Given the description of an element on the screen output the (x, y) to click on. 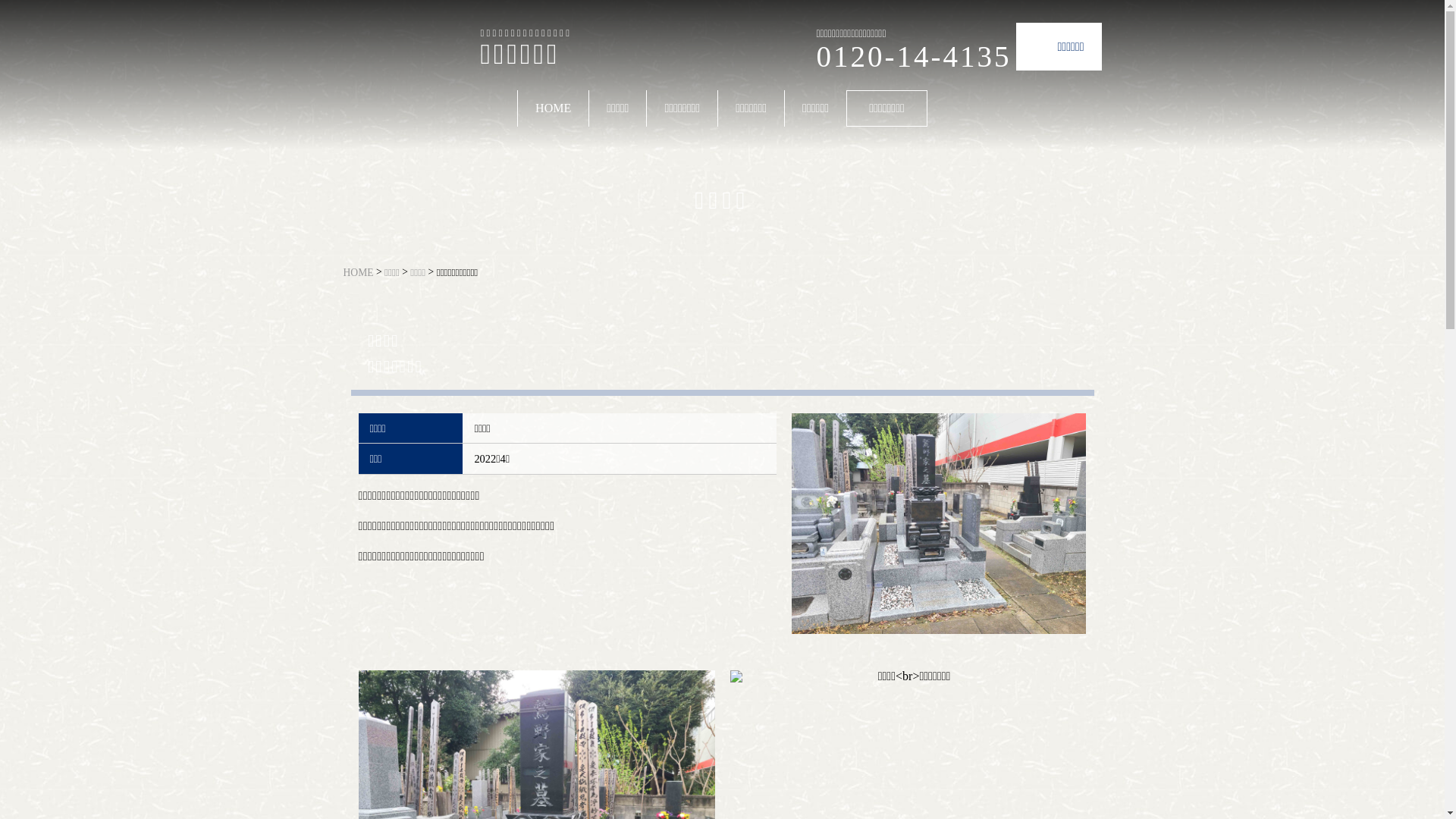
0120-14-4135 Element type: text (912, 56)
HOME Element type: text (552, 108)
HOME Element type: text (357, 271)
